Given the description of an element on the screen output the (x, y) to click on. 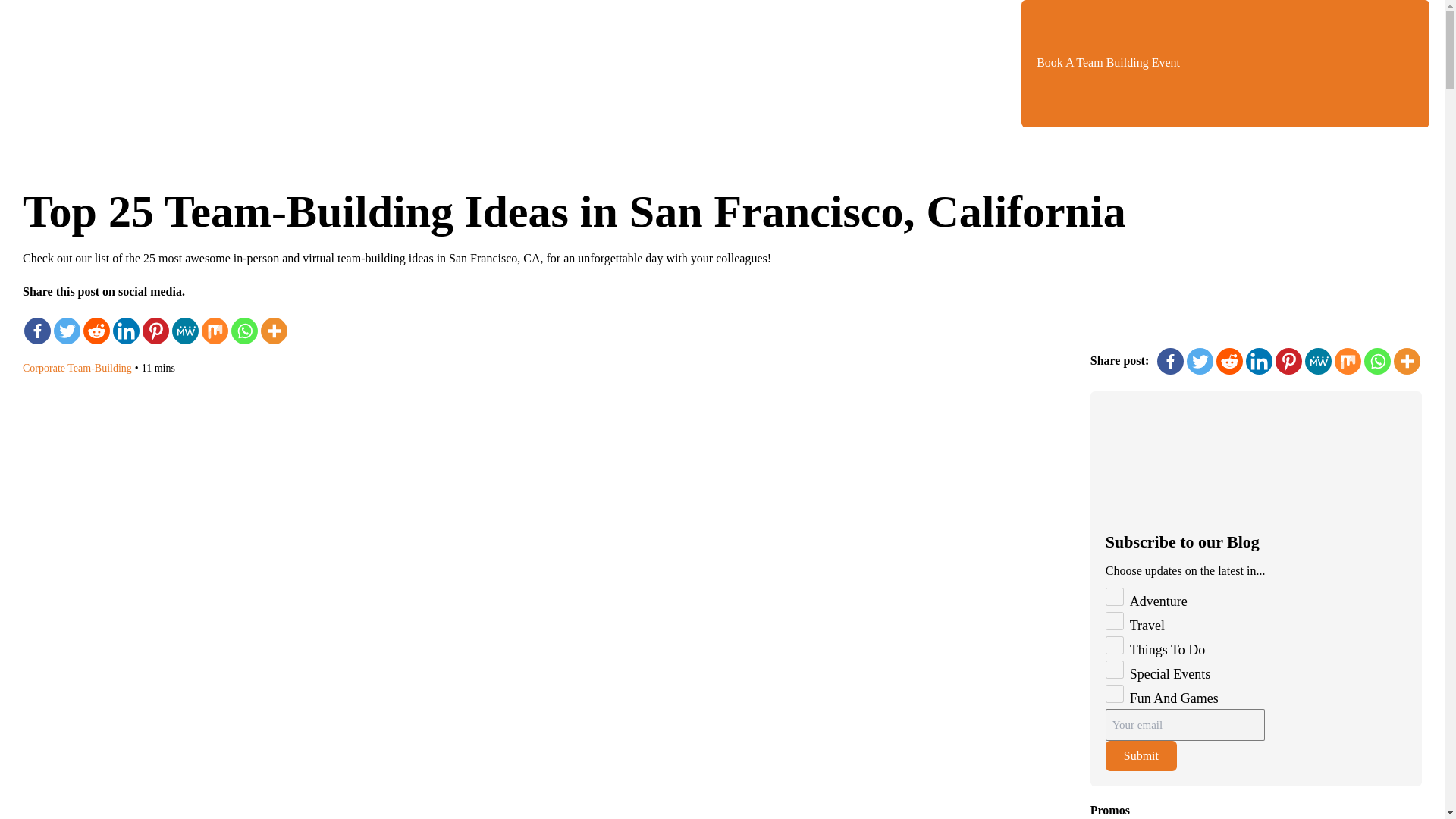
Special Events (1114, 669)
Reddit (96, 330)
Adventure (1114, 597)
Linkedin (126, 330)
Things To Do (1114, 645)
Submit (1140, 756)
Team-Building (99, 367)
Travel (1114, 620)
MeWe (184, 330)
Facebook (1170, 361)
